Given the description of an element on the screen output the (x, y) to click on. 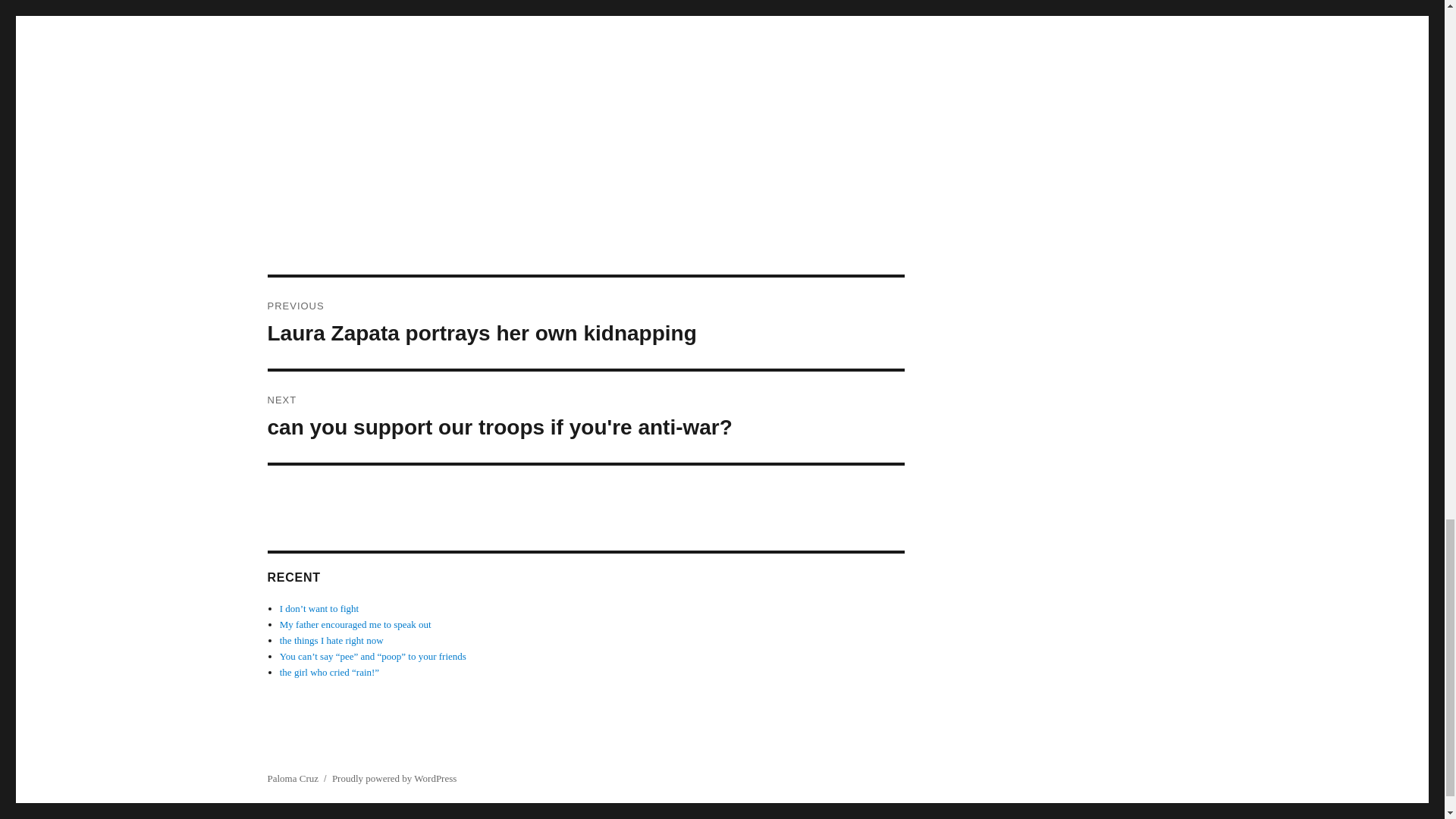
My father encouraged me to speak out (354, 624)
Comment Form (585, 94)
the things I hate right now (331, 640)
